Given the description of an element on the screen output the (x, y) to click on. 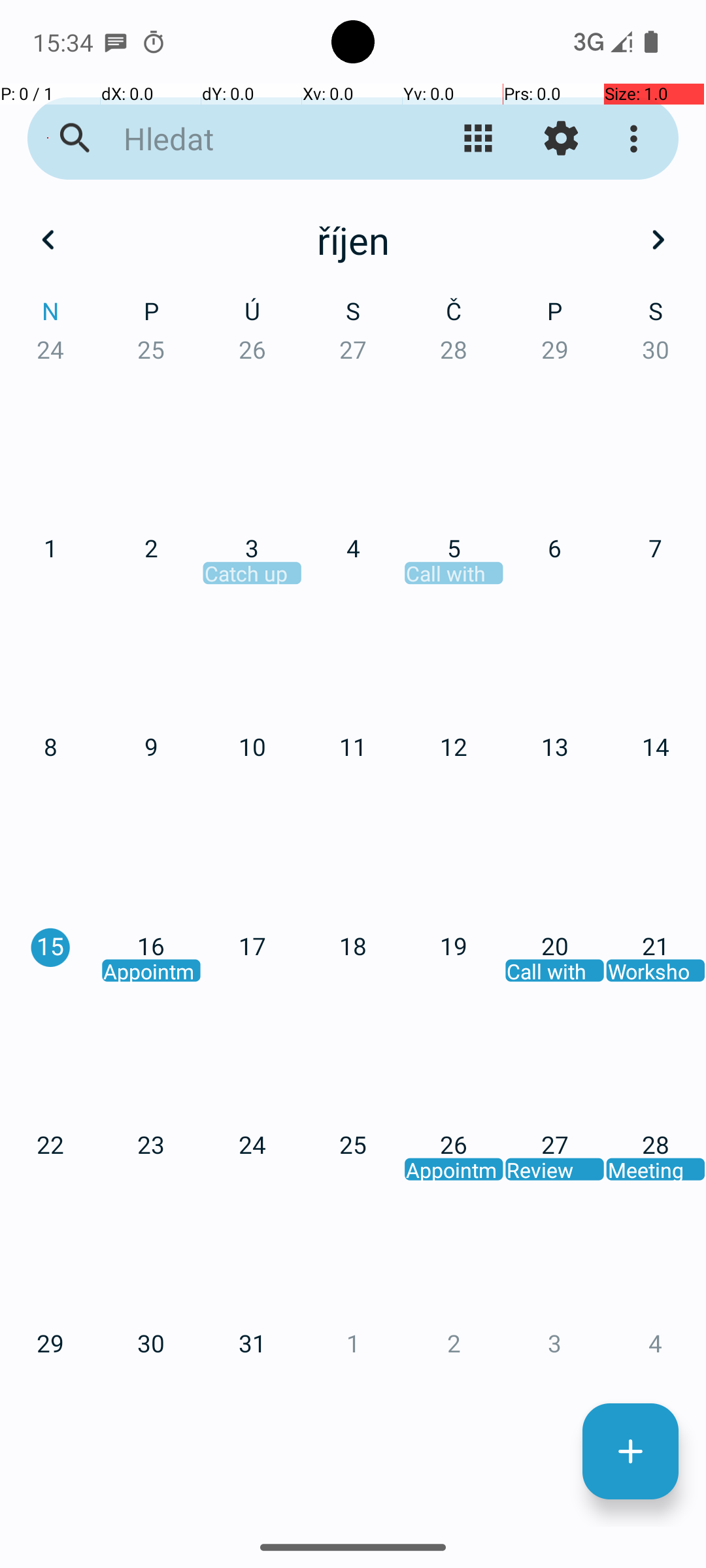
Hledat Element type: android.widget.EditText (252, 138)
Změnit zobrazení Element type: android.widget.Button (477, 138)
Nastavení Element type: android.widget.Button (560, 138)
Další možnosti Element type: android.widget.ImageView (636, 138)
Nová událost Element type: android.widget.ImageButton (630, 1451)
říjen Element type: android.widget.TextView (352, 239)
